Given the description of an element on the screen output the (x, y) to click on. 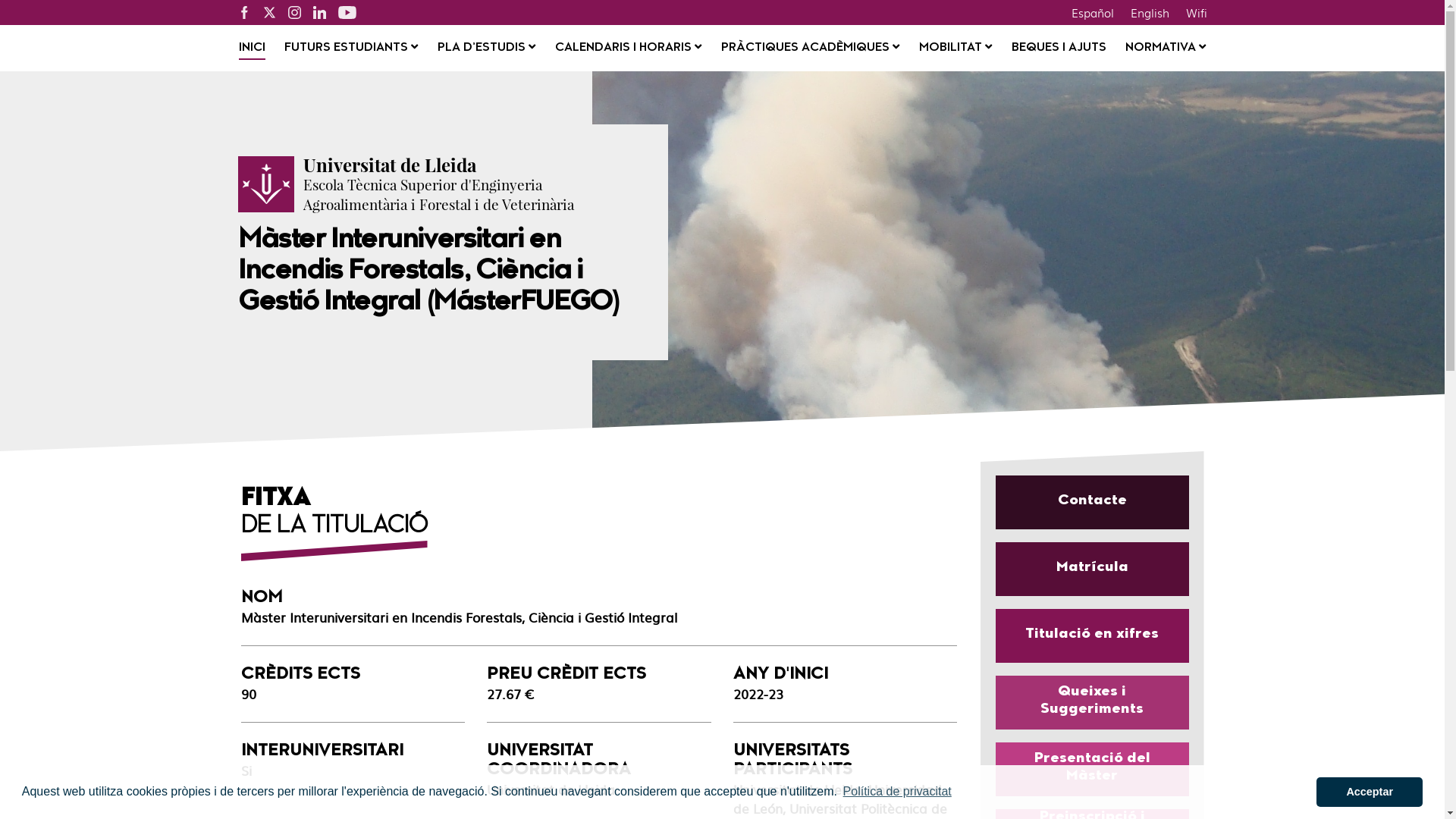
Acceptar Element type: text (1369, 791)
INICI Element type: text (251, 48)
Wifi Element type: text (1195, 12)
MOBILITAT Element type: text (955, 48)
CALENDARIS I HORARIS Element type: text (628, 48)
FUTURS ESTUDIANTS Element type: text (350, 48)
English Element type: text (1149, 12)
NORMATIVA Element type: text (1165, 48)
BEQUES I AJUTS Element type: text (1058, 48)
